Given the description of an element on the screen output the (x, y) to click on. 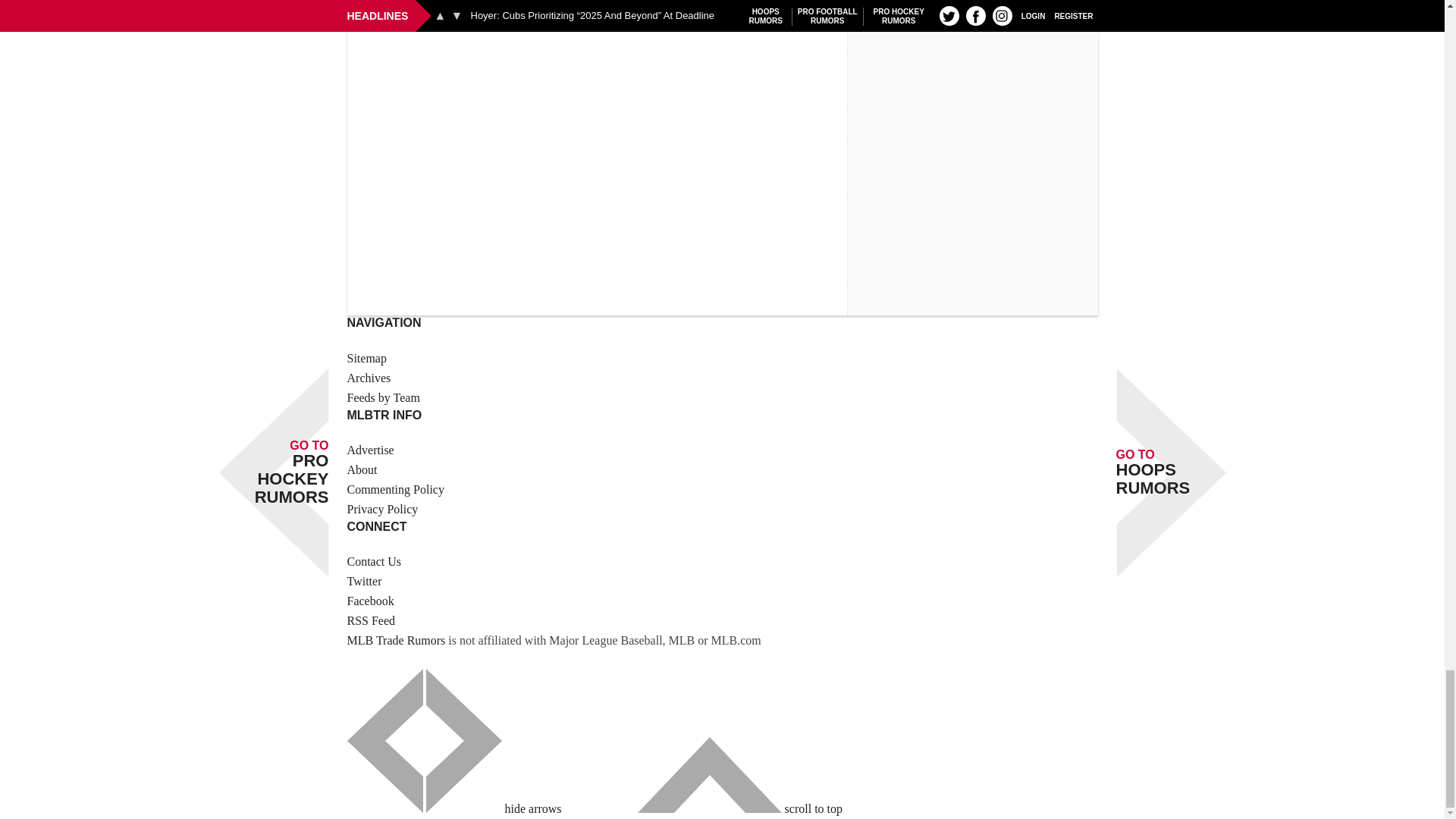
MLB Trade Rumors (396, 640)
